Given the description of an element on the screen output the (x, y) to click on. 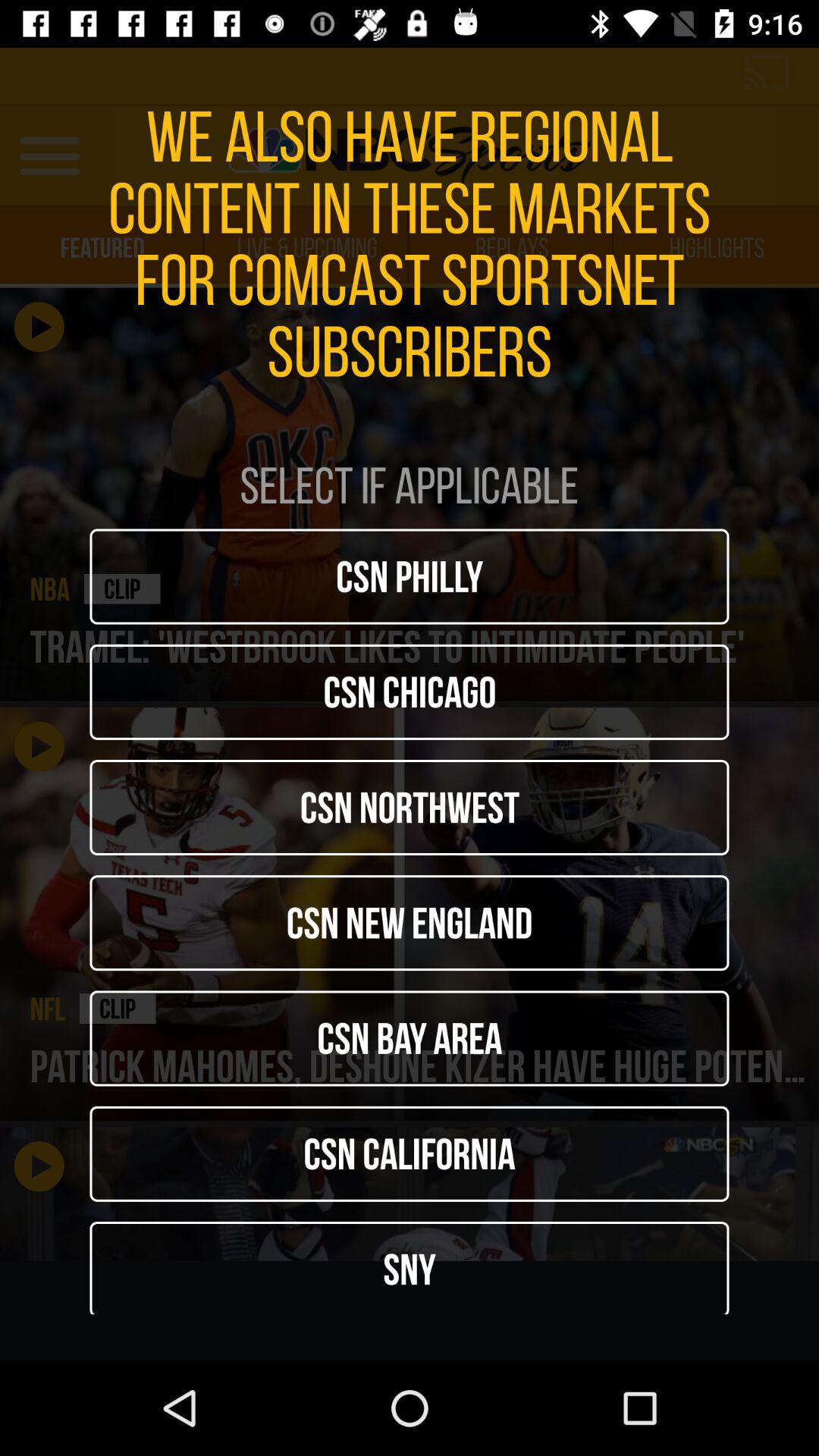
flip to csn philly item (409, 576)
